Given the description of an element on the screen output the (x, y) to click on. 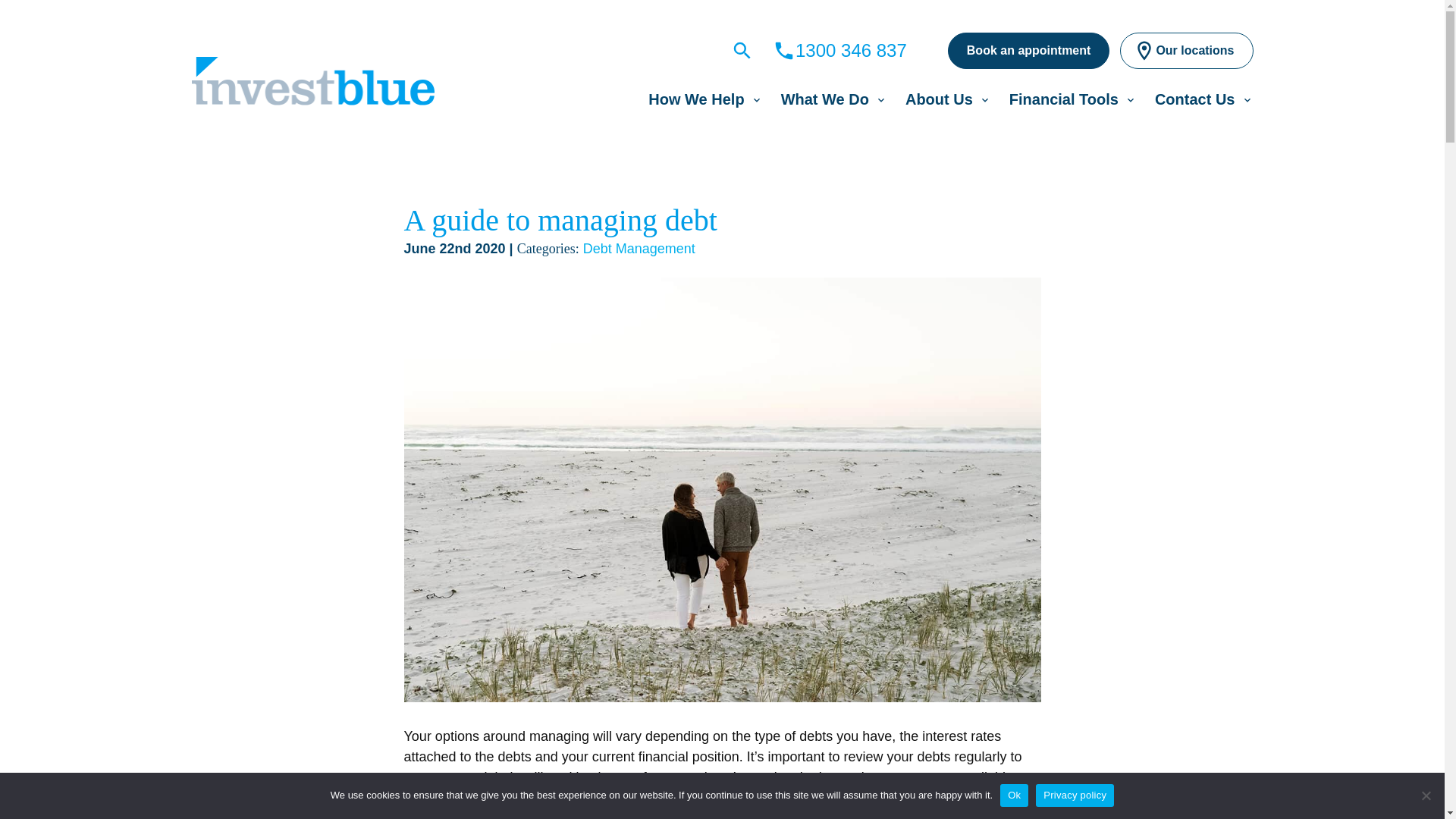
How We Help (695, 98)
What We Do (824, 98)
1300 346 837 (840, 50)
No (1425, 795)
Financial Tools (1063, 98)
Our locations (1185, 50)
Contact Us (1194, 98)
About Us (938, 98)
Book an appointment (1028, 50)
